Given the description of an element on the screen output the (x, y) to click on. 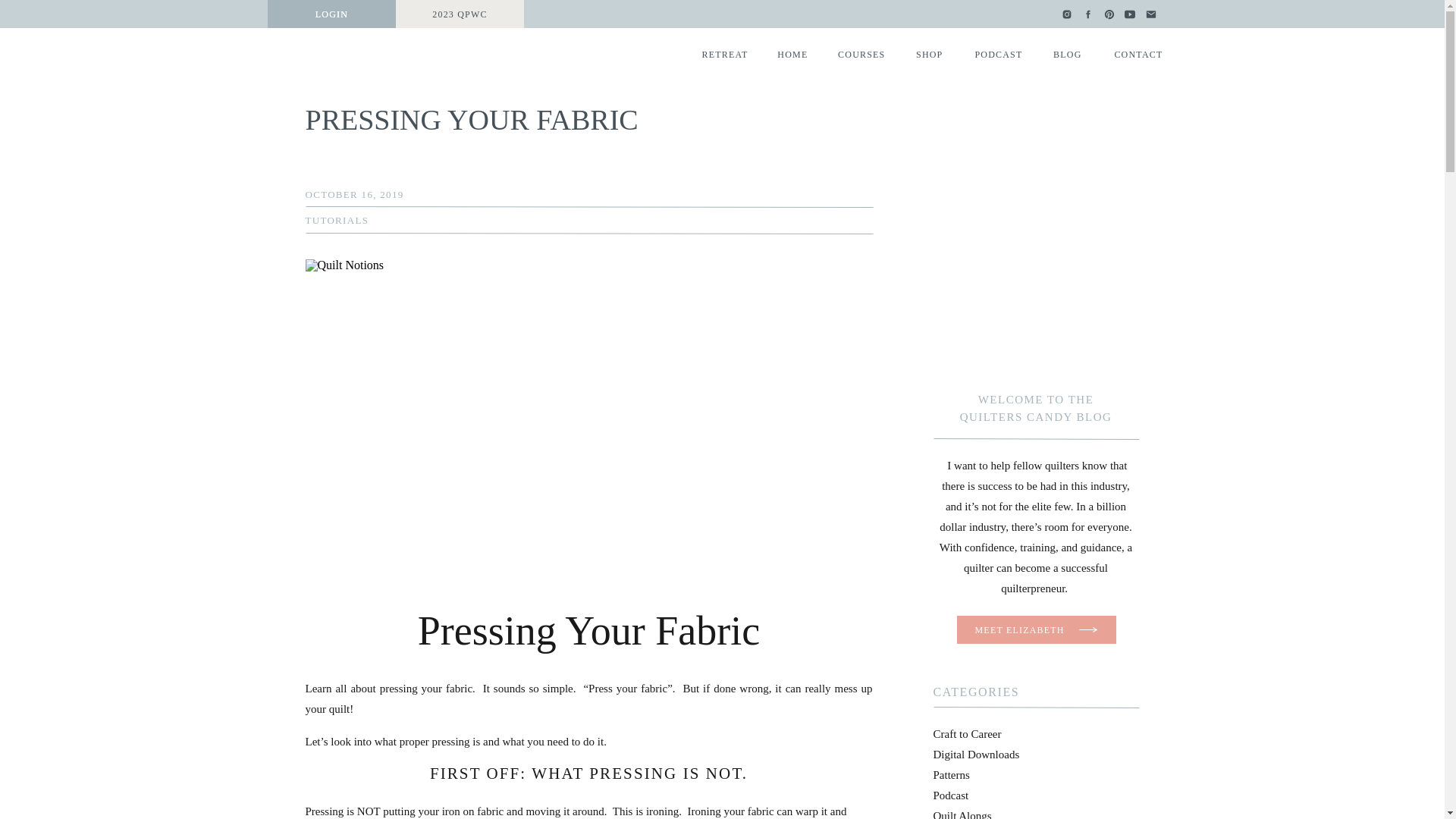
CONTACT (1133, 53)
Podcast (950, 795)
Digital Downloads (976, 754)
Craft to Career (967, 734)
BLOG (1065, 53)
SHOP (927, 53)
LOGIN (330, 13)
COURSES (858, 53)
RETREAT (721, 53)
Quilt Alongs (962, 814)
PODCAST (996, 53)
HOME (789, 53)
Patterns (951, 775)
TUTORIALS (336, 220)
2023 QPWC (459, 13)
